Given the description of an element on the screen output the (x, y) to click on. 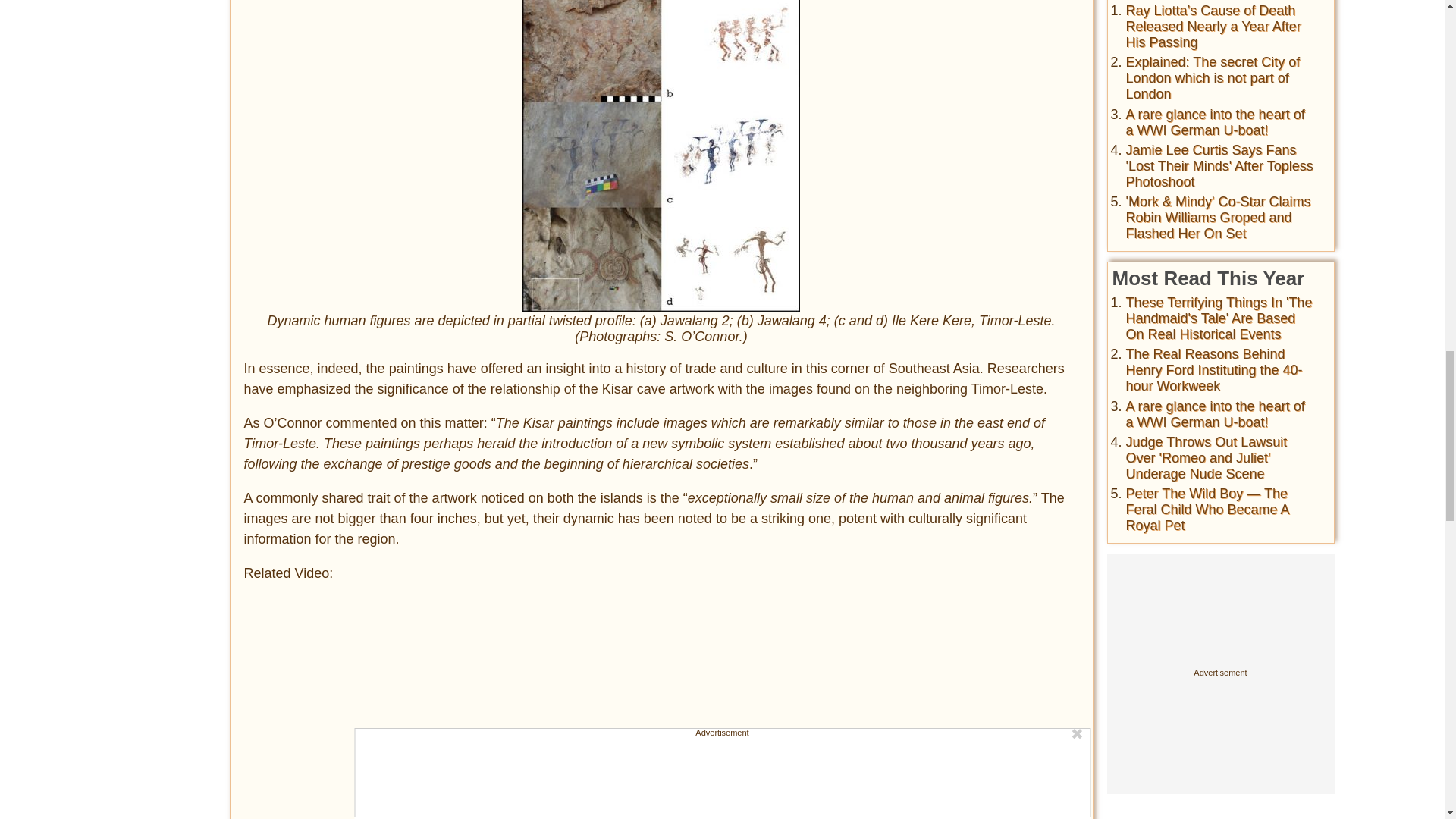
7 Things You May Not Know About The Mayans (479, 708)
